Given the description of an element on the screen output the (x, y) to click on. 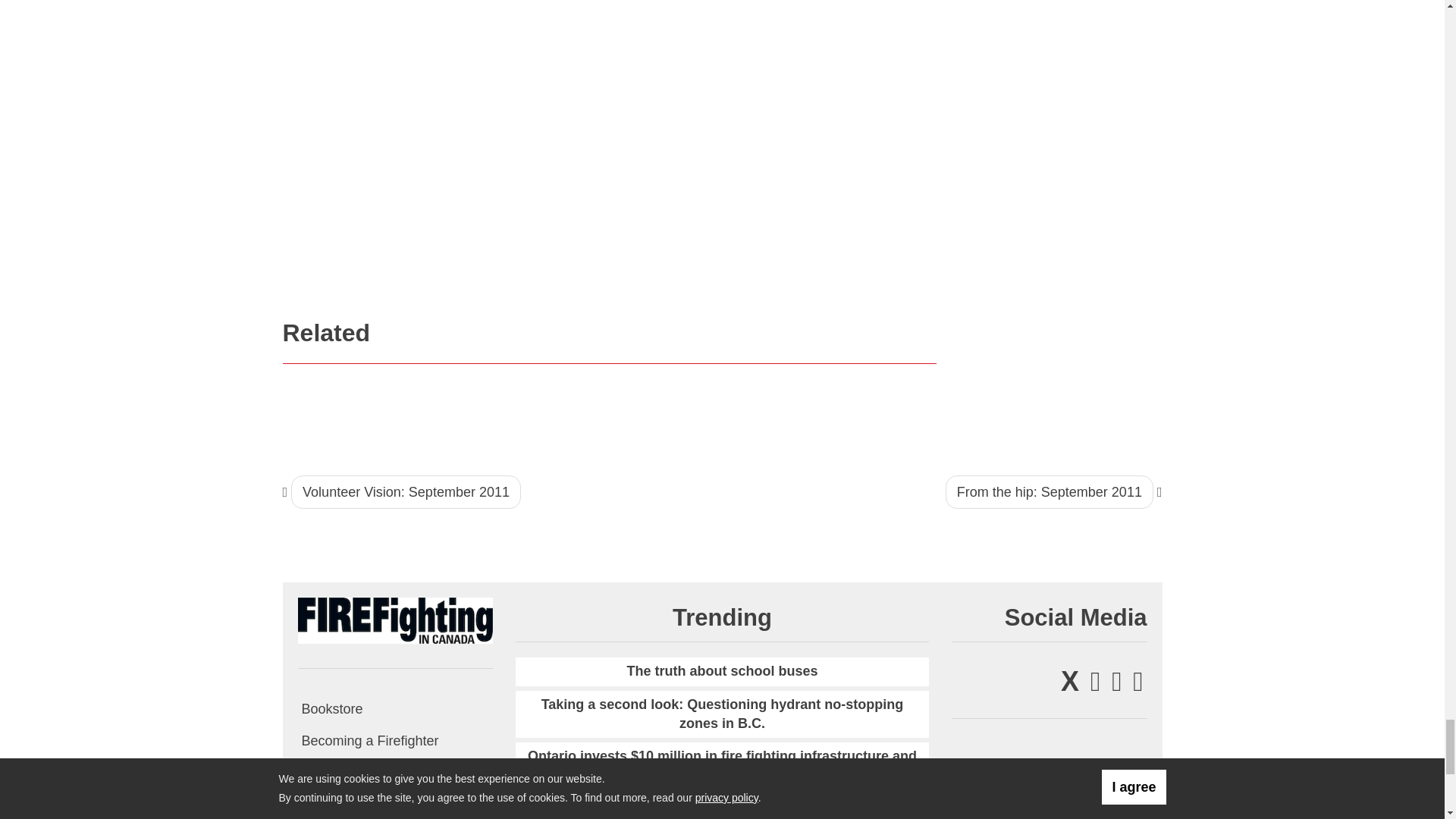
Fire Fighting in Canada (395, 619)
